Given the description of an element on the screen output the (x, y) to click on. 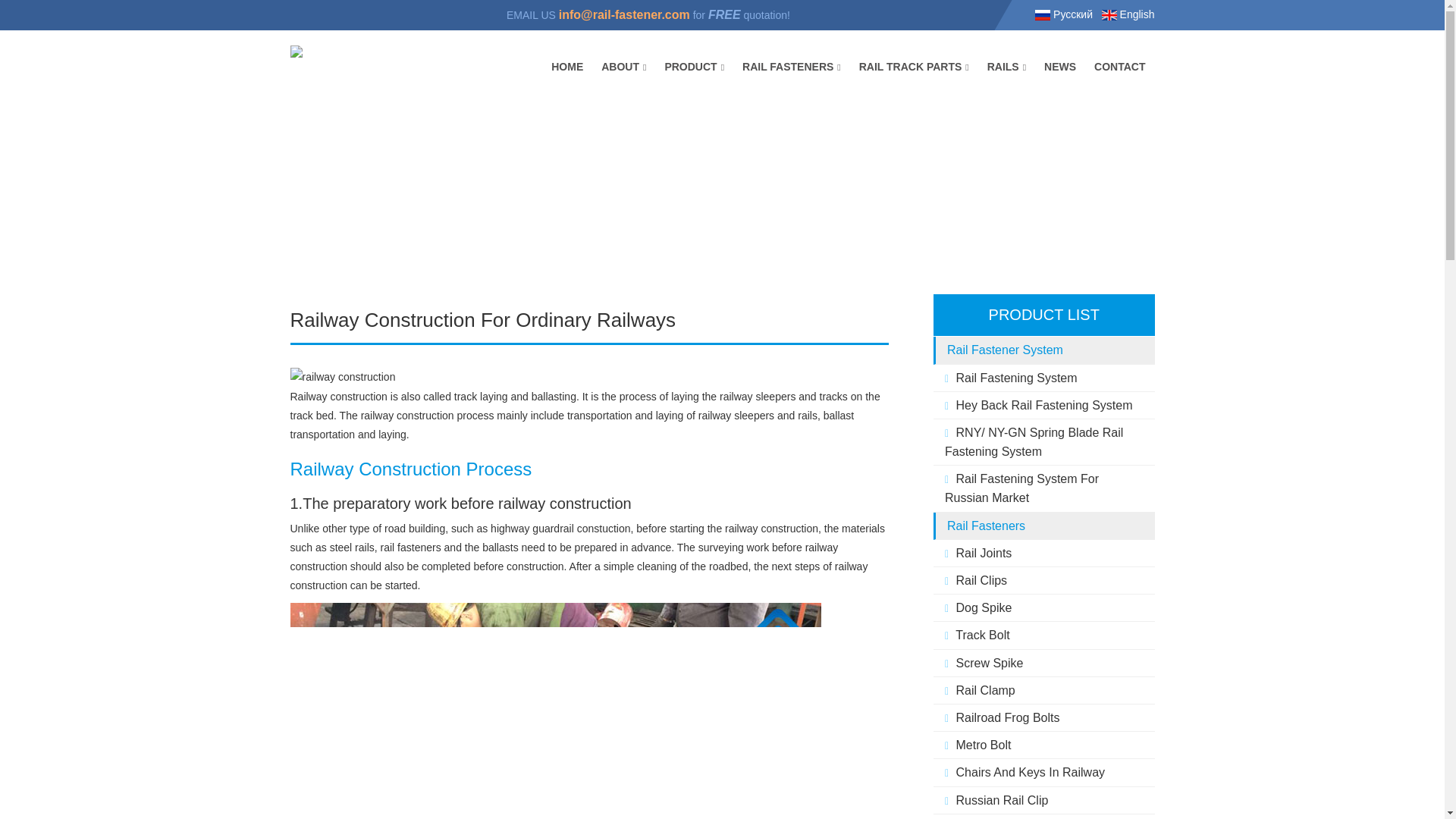
English (1128, 14)
